Given the description of an element on the screen output the (x, y) to click on. 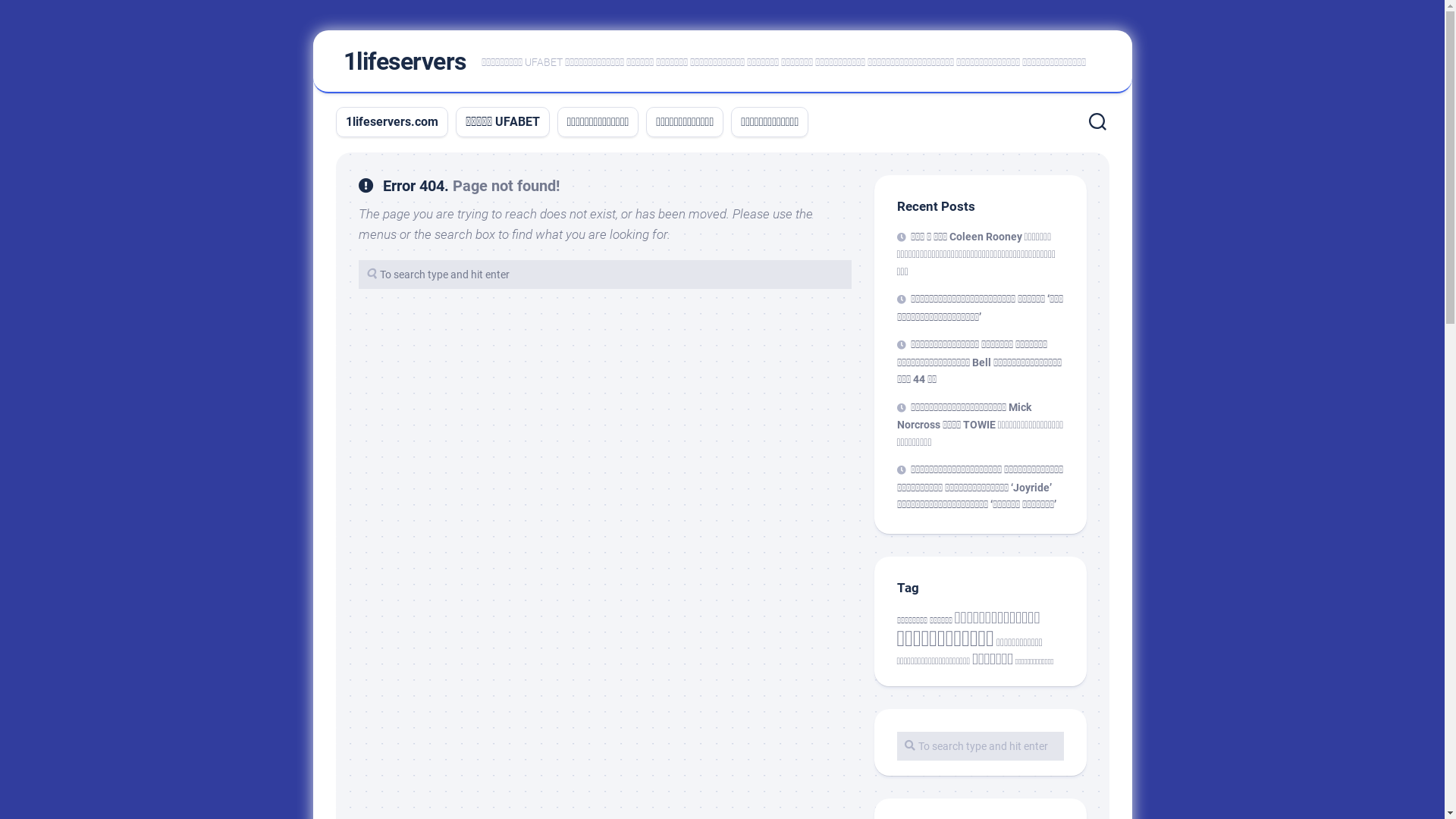
1lifeservers Element type: text (403, 61)
1lifeservers.com Element type: text (391, 121)
